Given the description of an element on the screen output the (x, y) to click on. 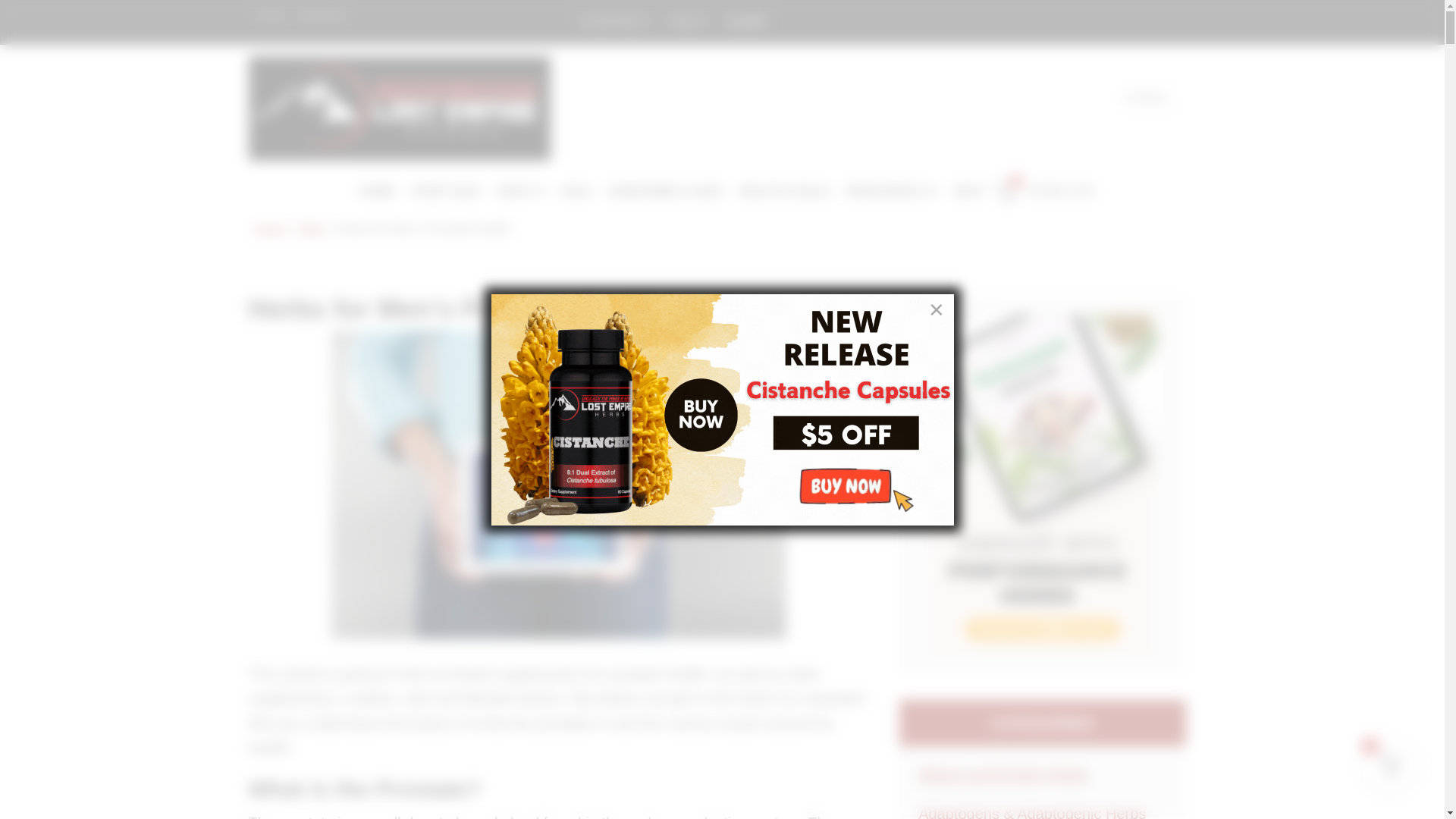
START QUIZ (445, 191)
SALE (576, 191)
CONTACT (614, 21)
Search (1184, 92)
Register (322, 14)
REGISTER (322, 14)
HELP (688, 21)
HOME (376, 191)
Lost Empire Herbs (399, 108)
1-866-764-3727 (943, 140)
HEALTH GOALS (784, 191)
Login (270, 14)
Search (1184, 92)
CART (746, 21)
